Given the description of an element on the screen output the (x, y) to click on. 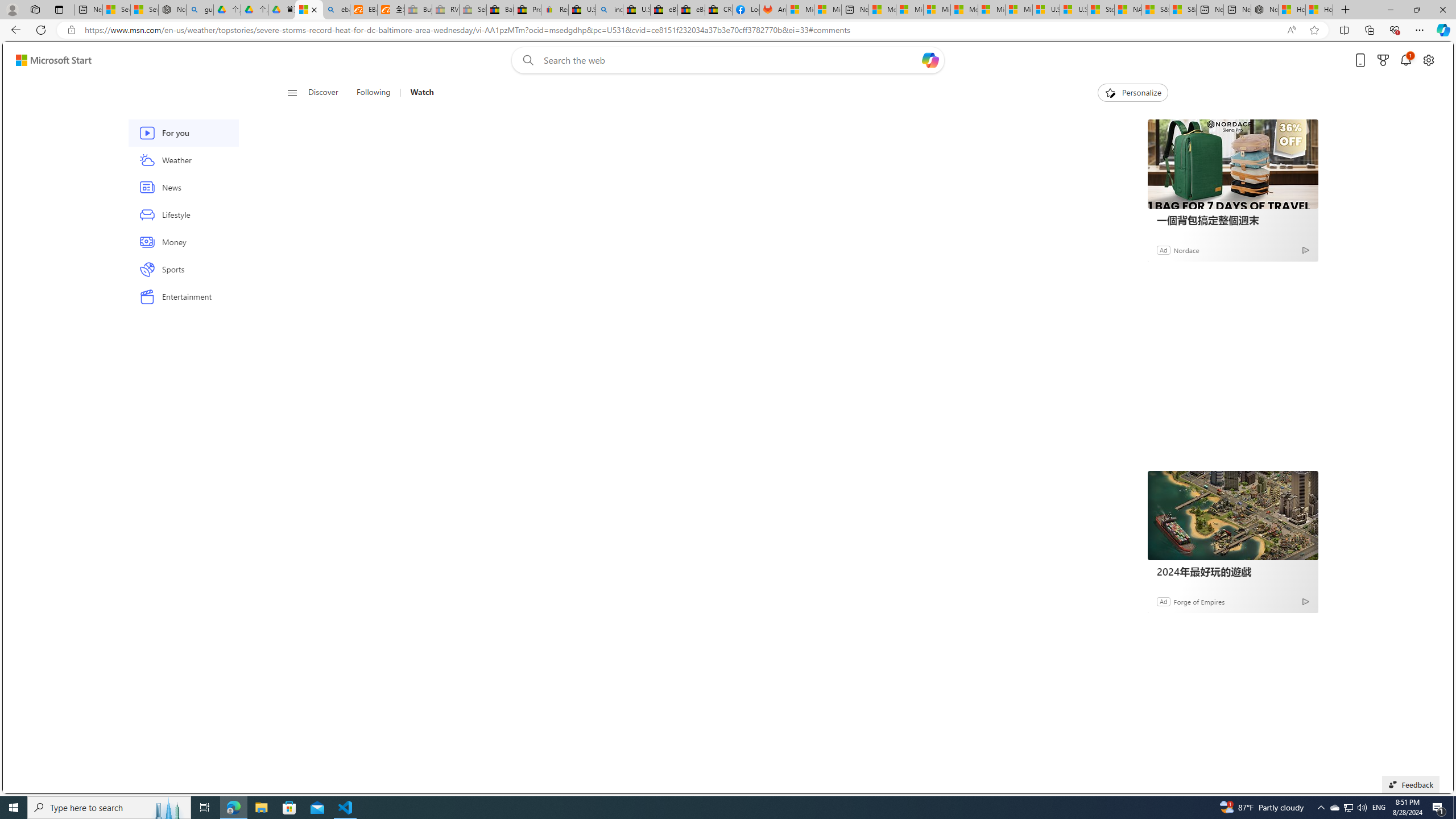
U.S. State Privacy Disclosures - eBay Inc. (636, 9)
Skip to content (49, 59)
Skip to footer (46, 59)
How to Use a Monitor With Your Closed Laptop (1319, 9)
